Given the description of an element on the screen output the (x, y) to click on. 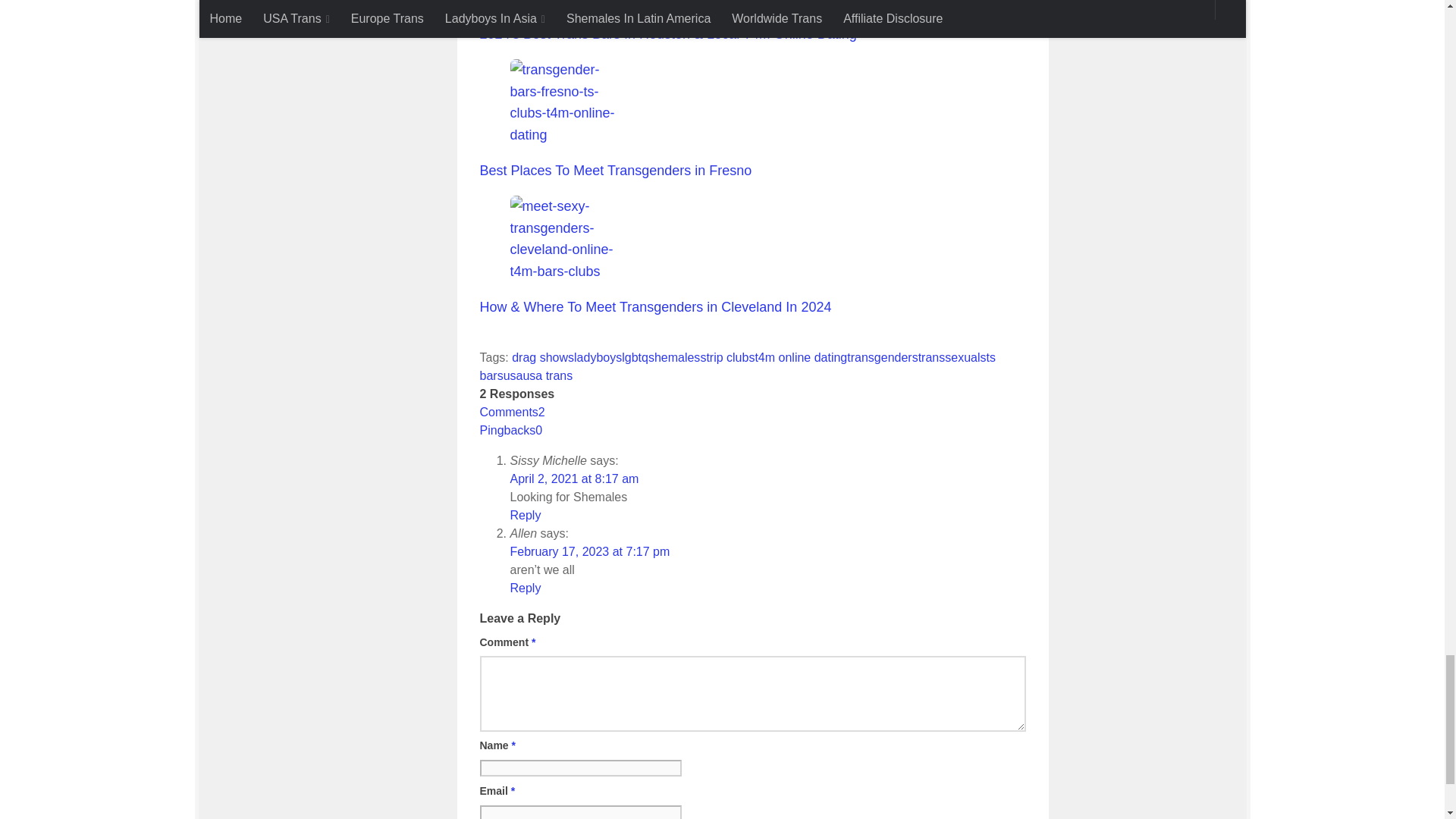
Best Places To Meet Transgenders in Fresno (566, 102)
